Given the description of an element on the screen output the (x, y) to click on. 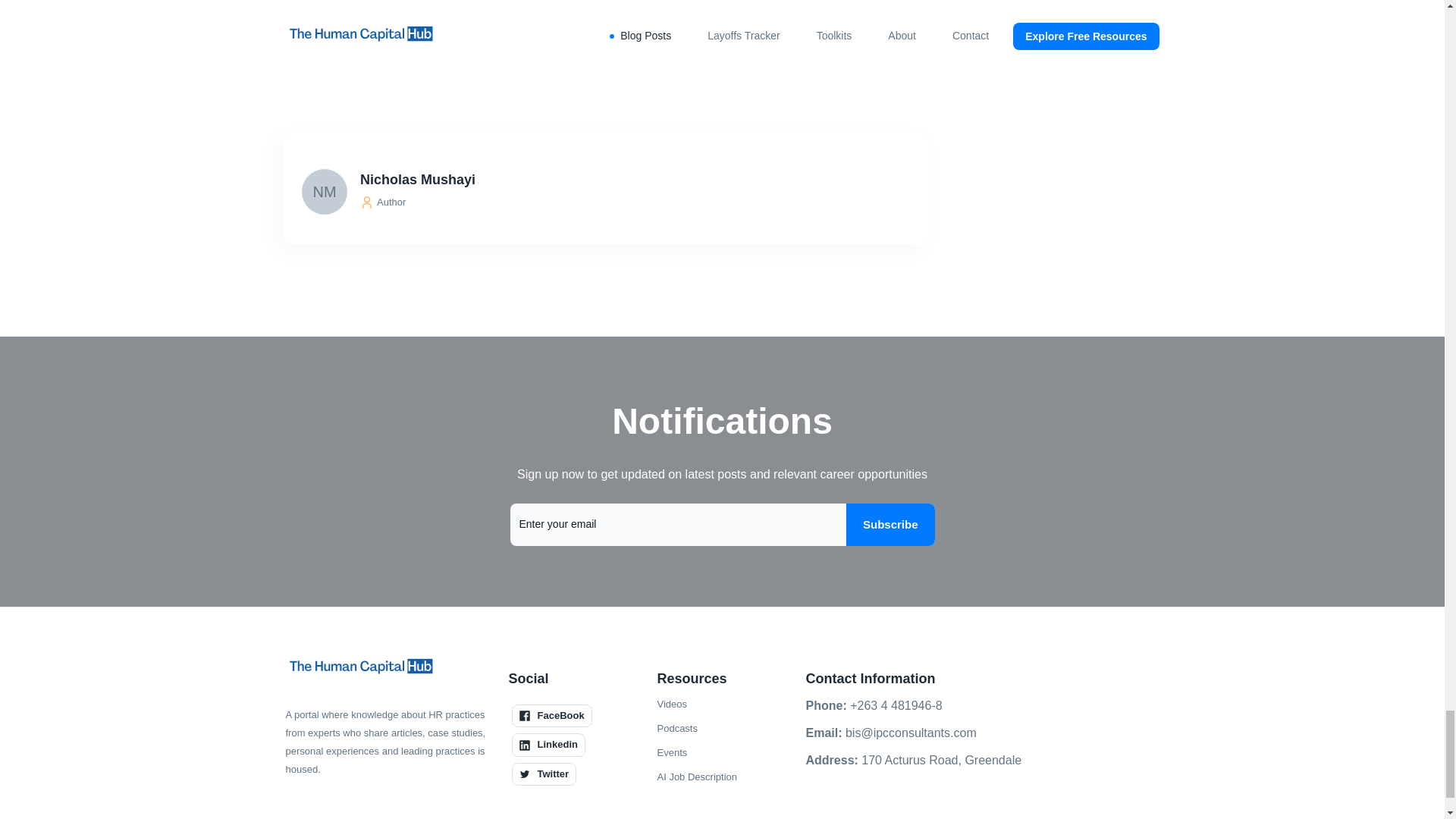
Nicholas Mushayi (608, 179)
Linkedin (548, 744)
Twitter (543, 773)
Events (671, 752)
Videos (671, 704)
AI Job Description (696, 777)
Podcasts (676, 728)
FaceBook (551, 715)
Subscribe (889, 524)
